Given the description of an element on the screen output the (x, y) to click on. 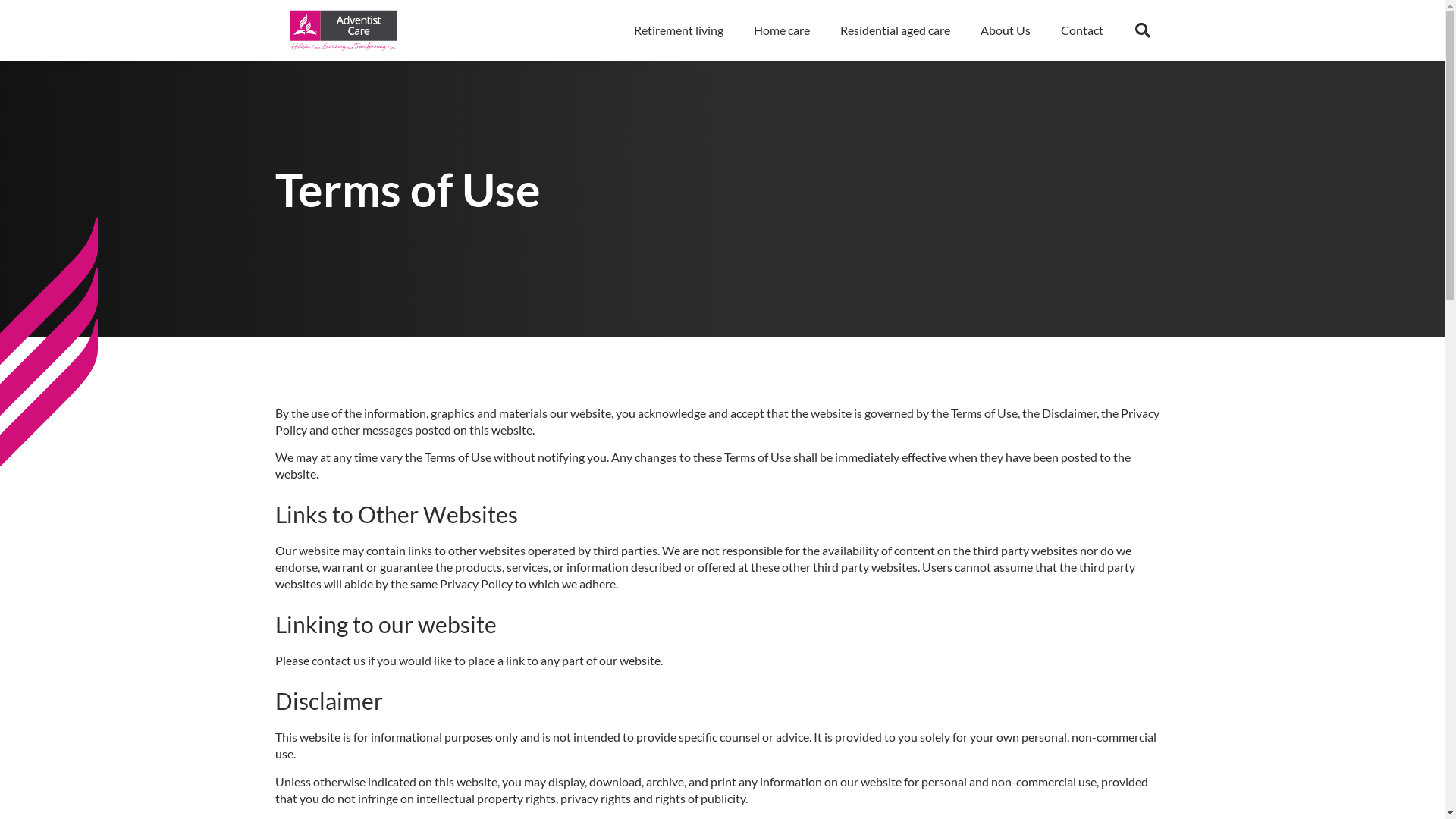
Residential aged care Element type: text (895, 29)
Home care Element type: text (781, 29)
About Us Element type: text (1005, 29)
Contact Element type: text (1081, 29)
Retirement living Element type: text (678, 29)
